Given the description of an element on the screen output the (x, y) to click on. 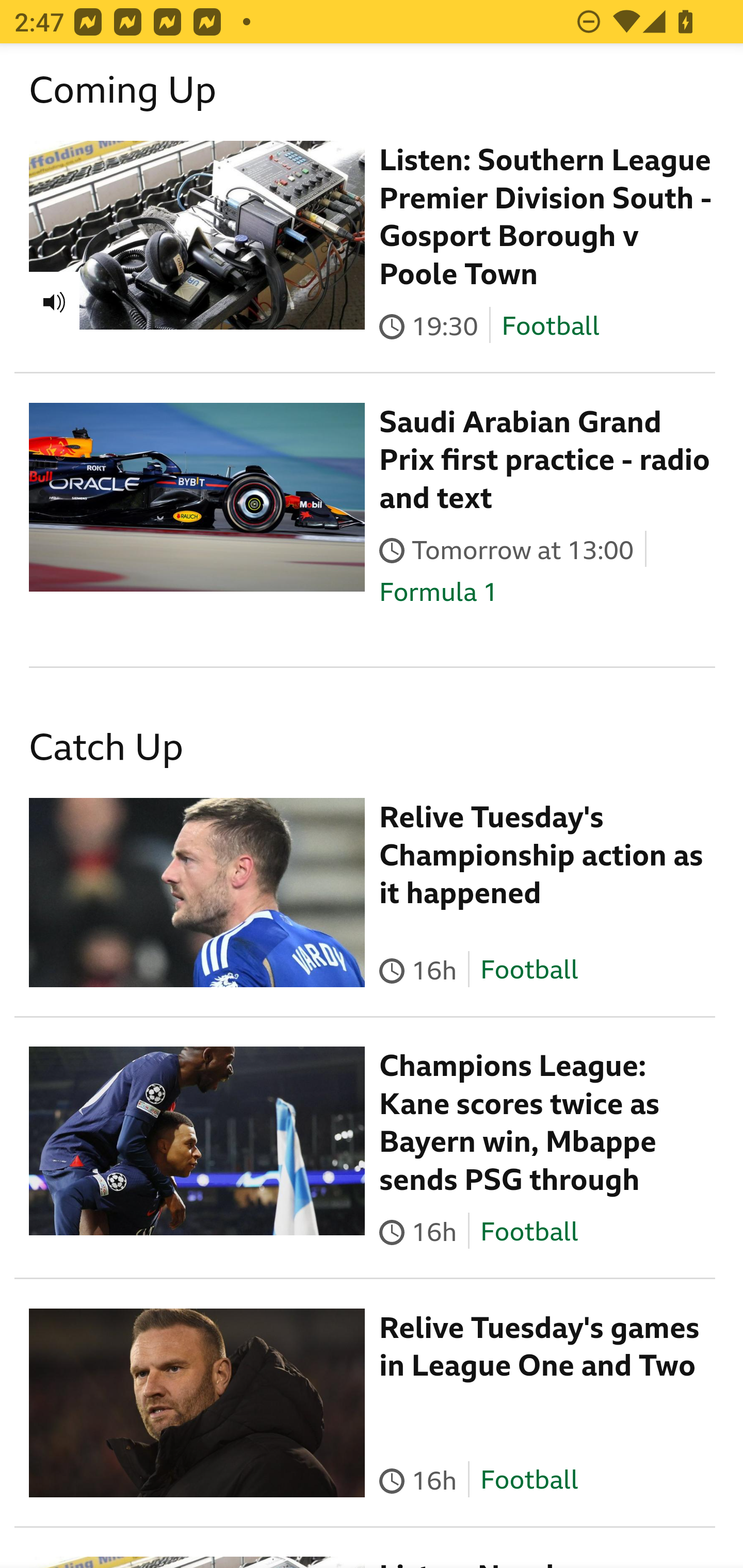
Football (550, 326)
Formula 1 (438, 591)
Football (528, 970)
Football (528, 1230)
Relive Tuesday's games in League One and Two (539, 1347)
Football (528, 1479)
